Given the description of an element on the screen output the (x, y) to click on. 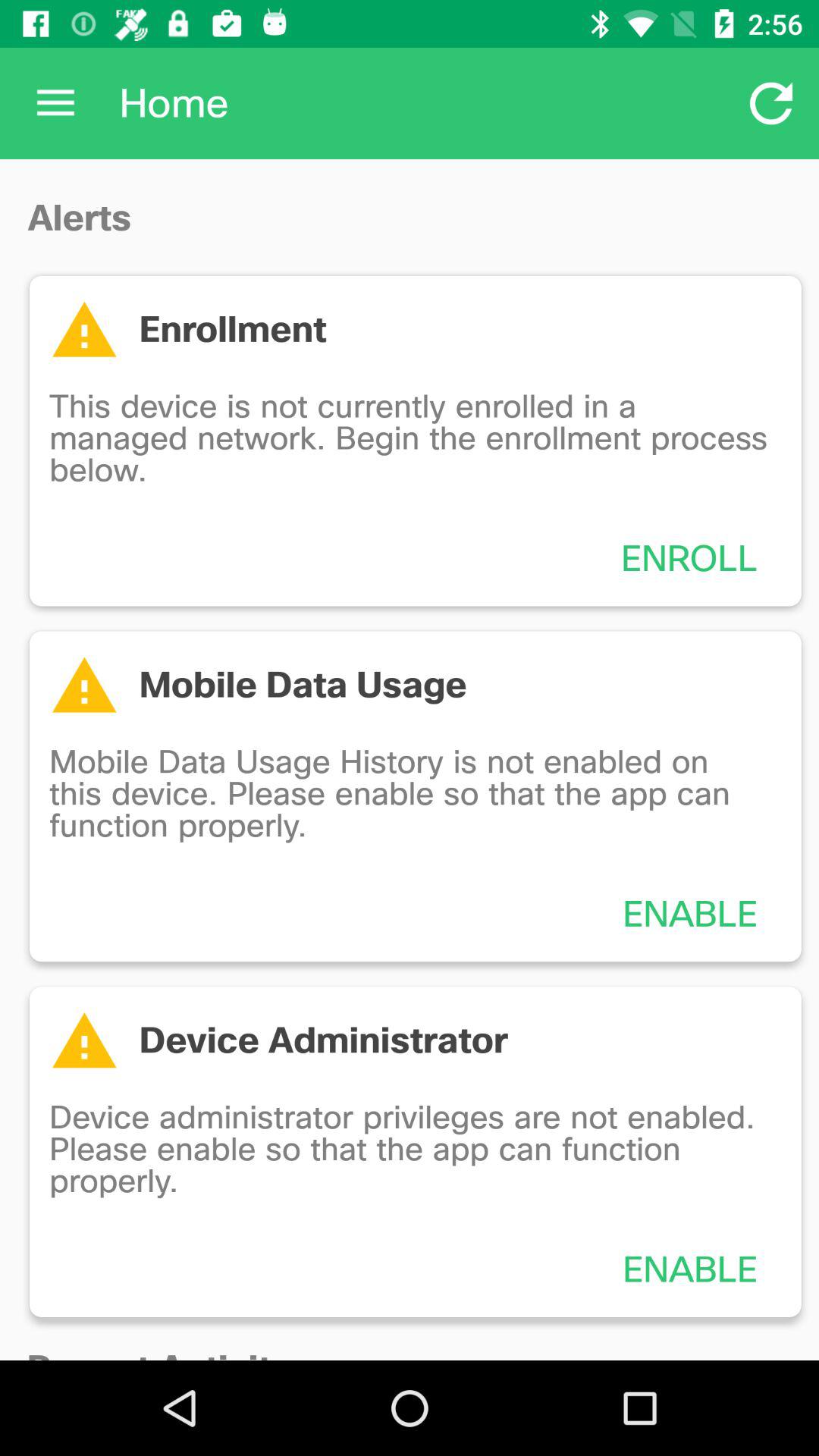
choose app to the left of home (55, 103)
